Given the description of an element on the screen output the (x, y) to click on. 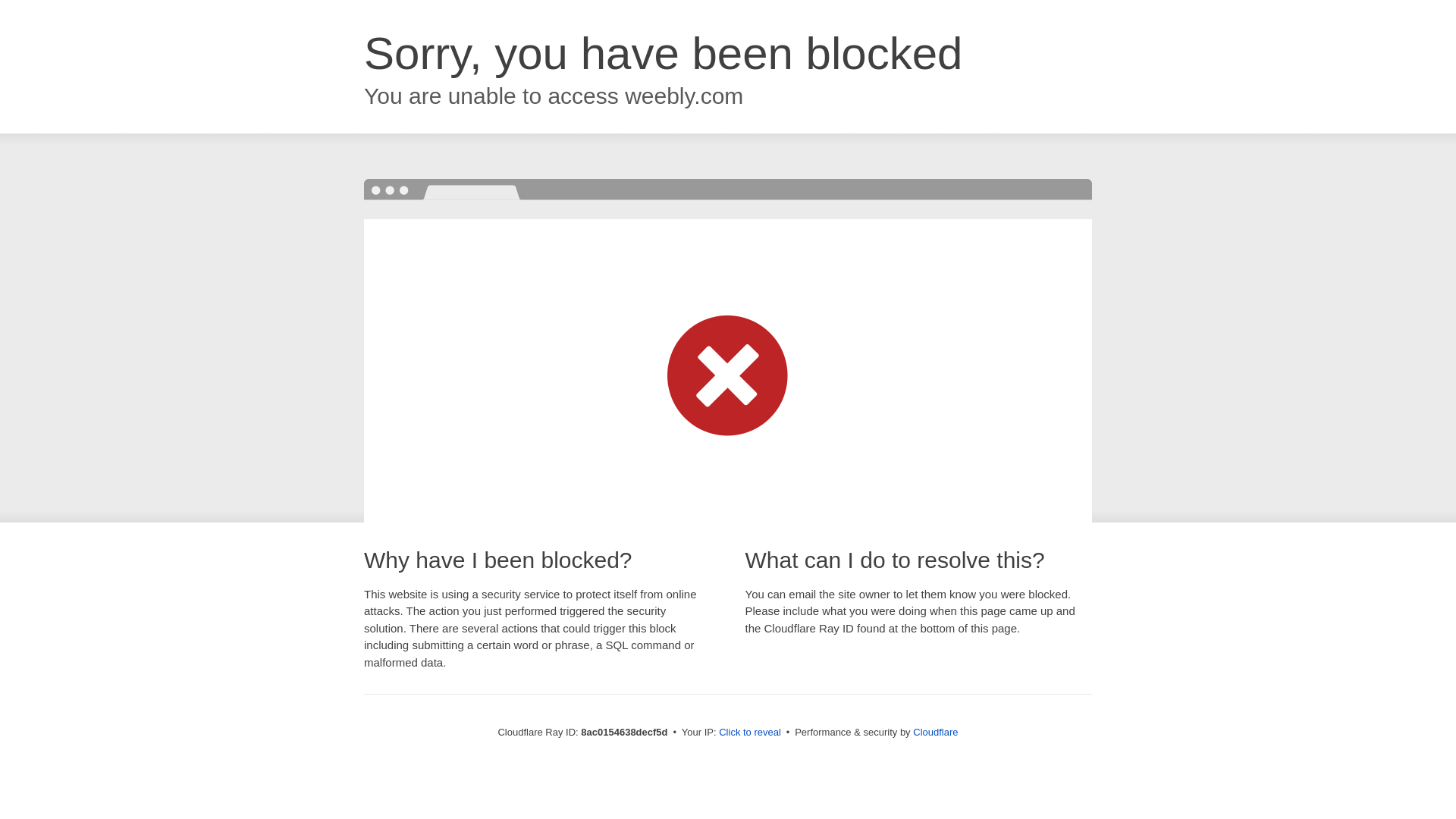
Cloudflare (935, 731)
Click to reveal (749, 732)
